Given the description of an element on the screen output the (x, y) to click on. 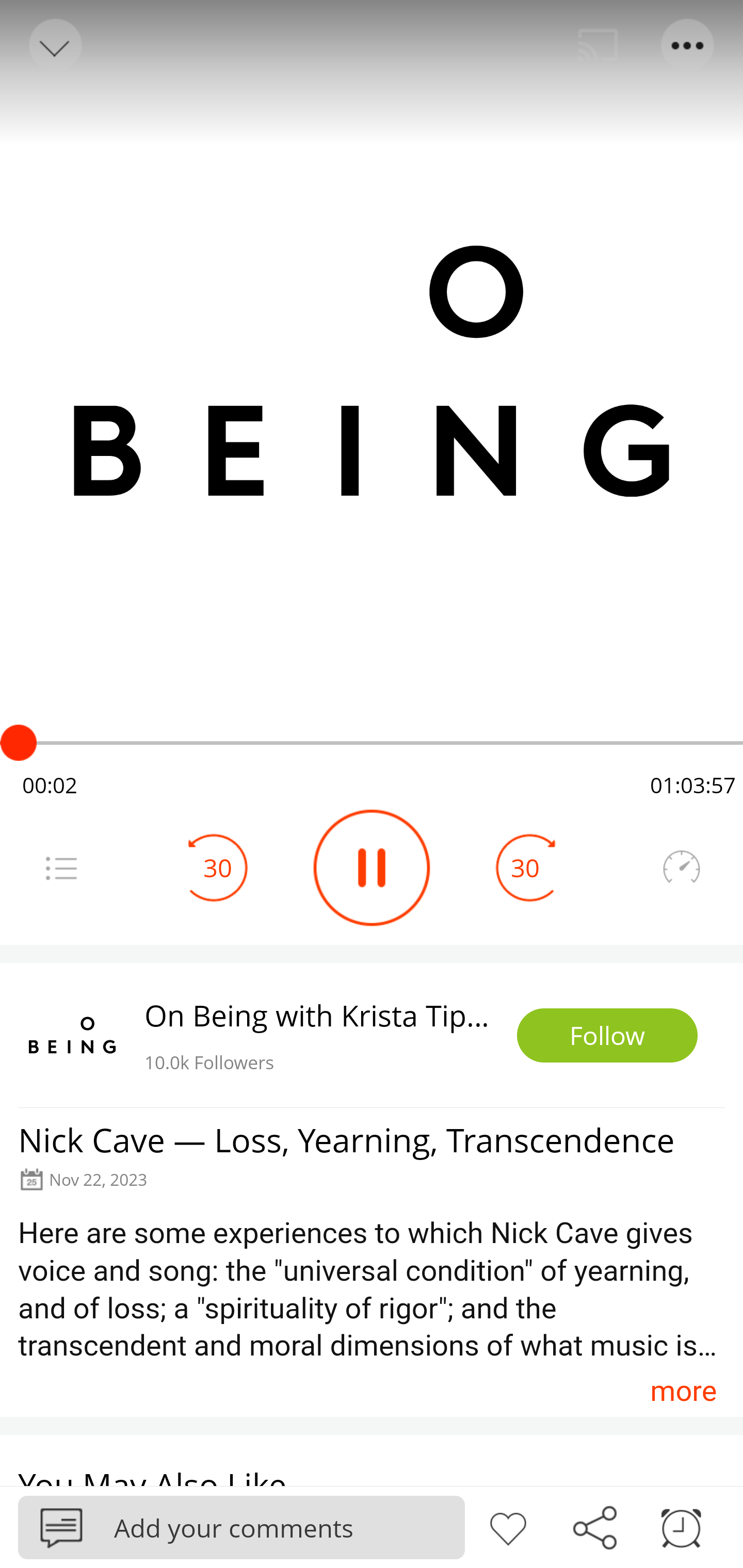
Back (53, 45)
Cast. Disconnected (597, 45)
Menu (688, 45)
Play (371, 867)
30 Seek Backward (217, 867)
30 Seek Forward (525, 867)
Menu (60, 867)
Speedometer (681, 867)
Follow (607, 1035)
more (682, 1390)
Like (508, 1526)
Share (594, 1526)
Sleep timer (681, 1526)
Podbean Add your comments (241, 1526)
